Given the description of an element on the screen output the (x, y) to click on. 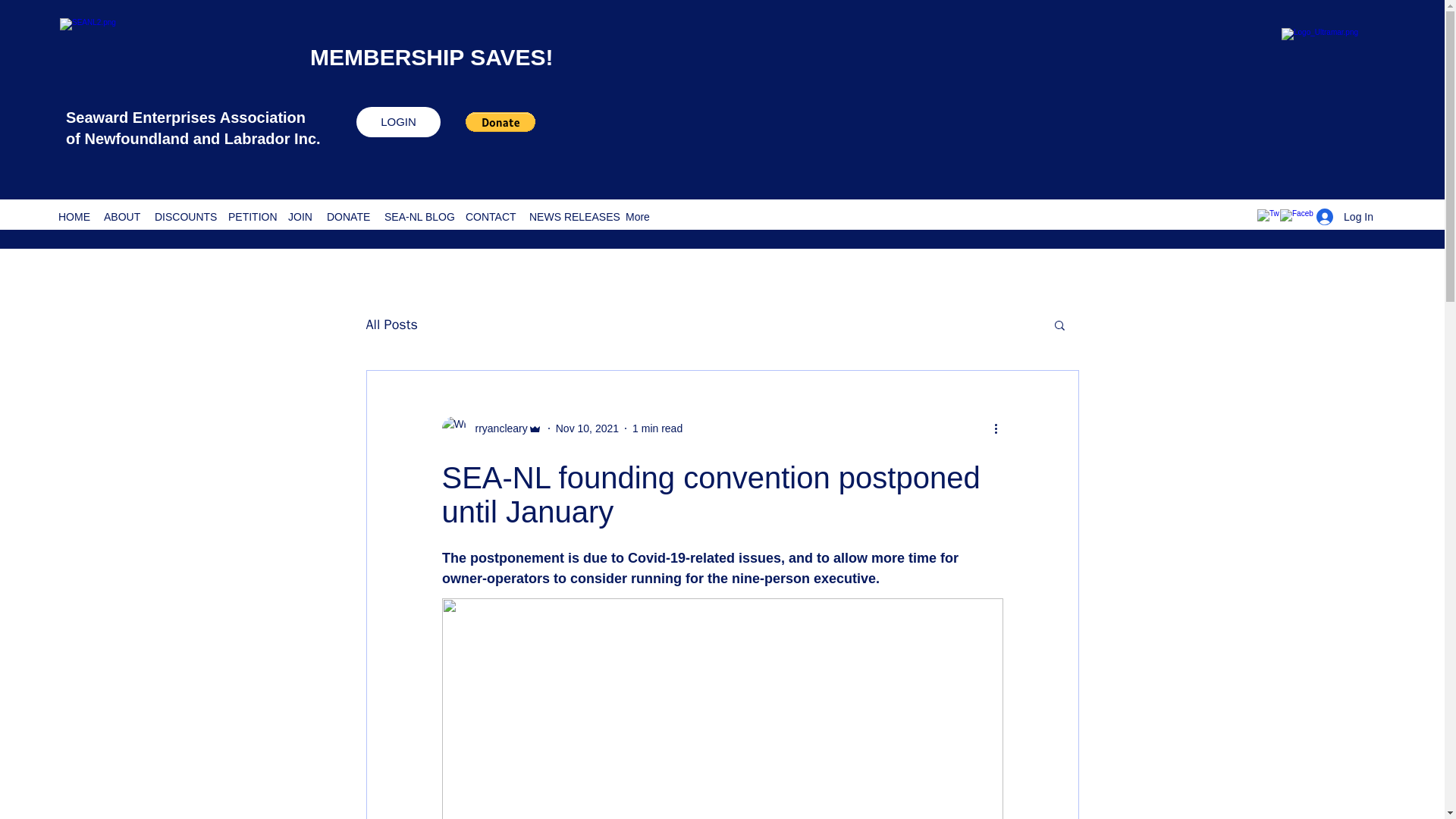
ABOUT (121, 216)
JOIN (299, 216)
1 min read (656, 428)
HOME (73, 216)
DISCOUNTS (184, 216)
LOGIN (398, 122)
rryancleary (496, 428)
CONTACT (489, 216)
DONATE (347, 216)
NEWS RELEASES (569, 216)
